Given the description of an element on the screen output the (x, y) to click on. 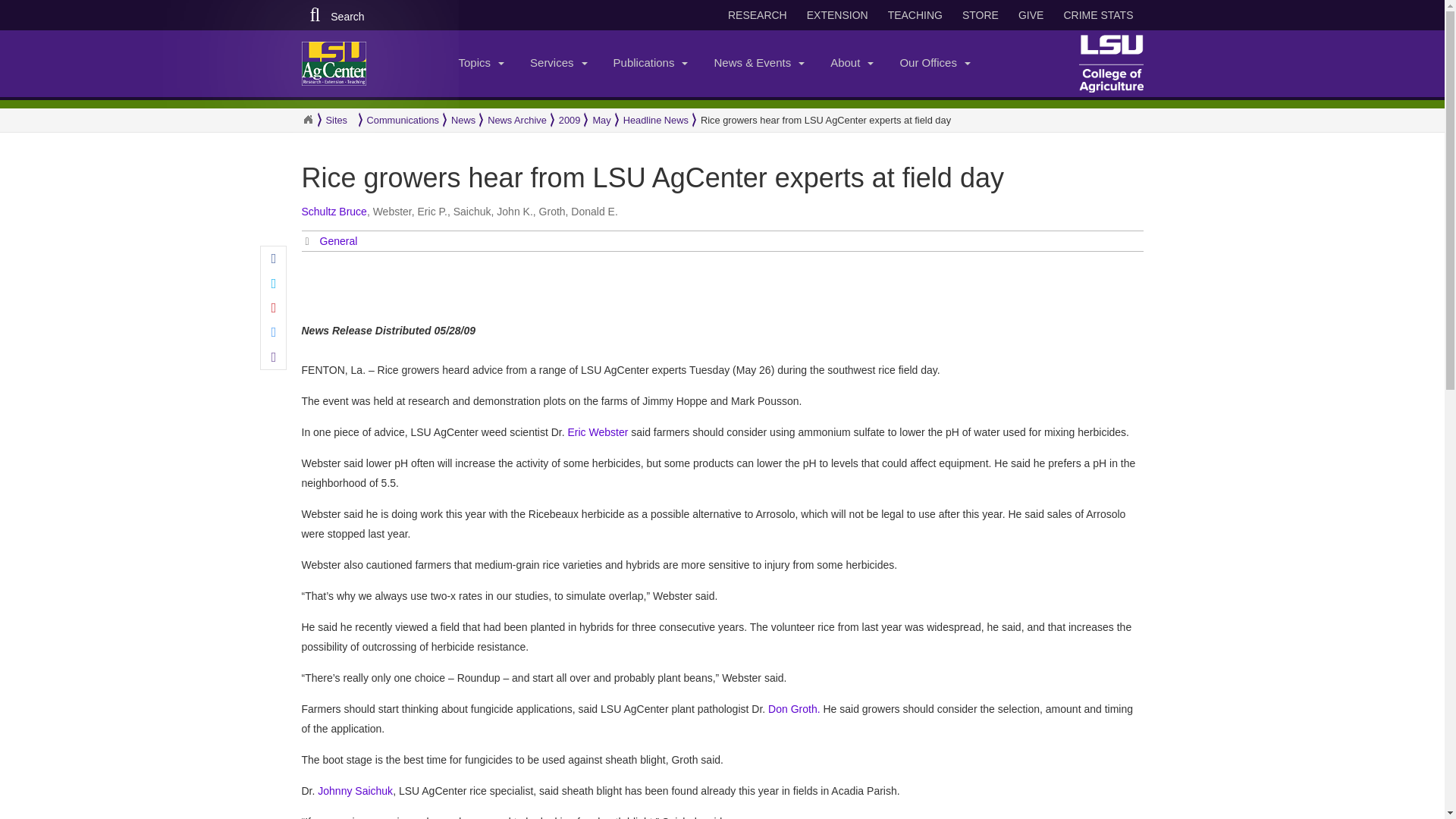
Research (757, 14)
Crime Stats - LSU AgCenter (1097, 14)
Store (980, 14)
Give to LSU AgCenter (1030, 14)
Extension (837, 14)
Teaching (915, 14)
